Given the description of an element on the screen output the (x, y) to click on. 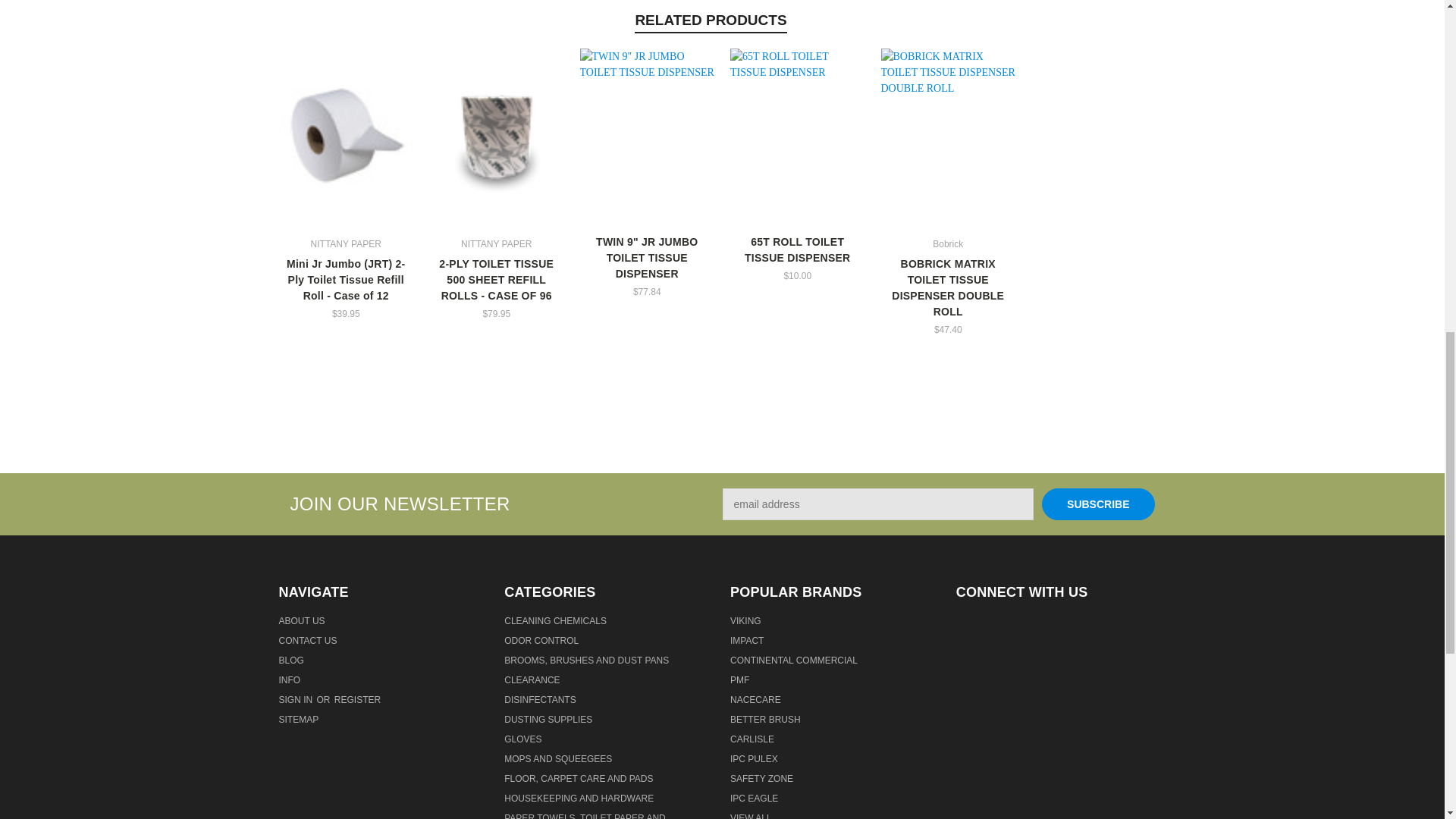
Subscribe (1098, 504)
2-PLY TOILET TISSUE 500 SHEET REFILL ROLLS - CASE OF 96 (496, 136)
